Given the description of an element on the screen output the (x, y) to click on. 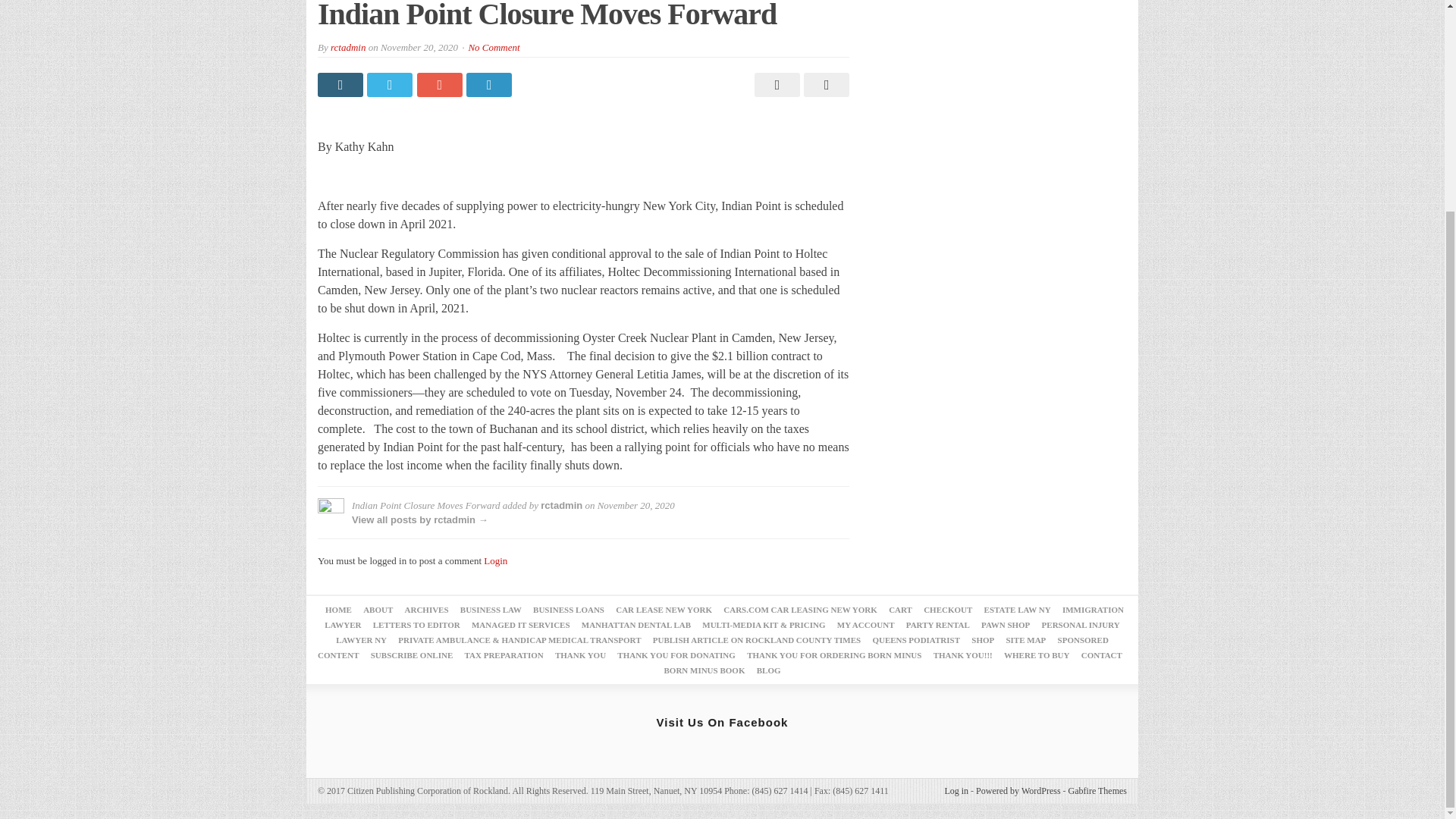
HOME (338, 609)
No Comment (493, 47)
Login (494, 560)
rctadmin (561, 505)
rctadmin (347, 47)
